Given the description of an element on the screen output the (x, y) to click on. 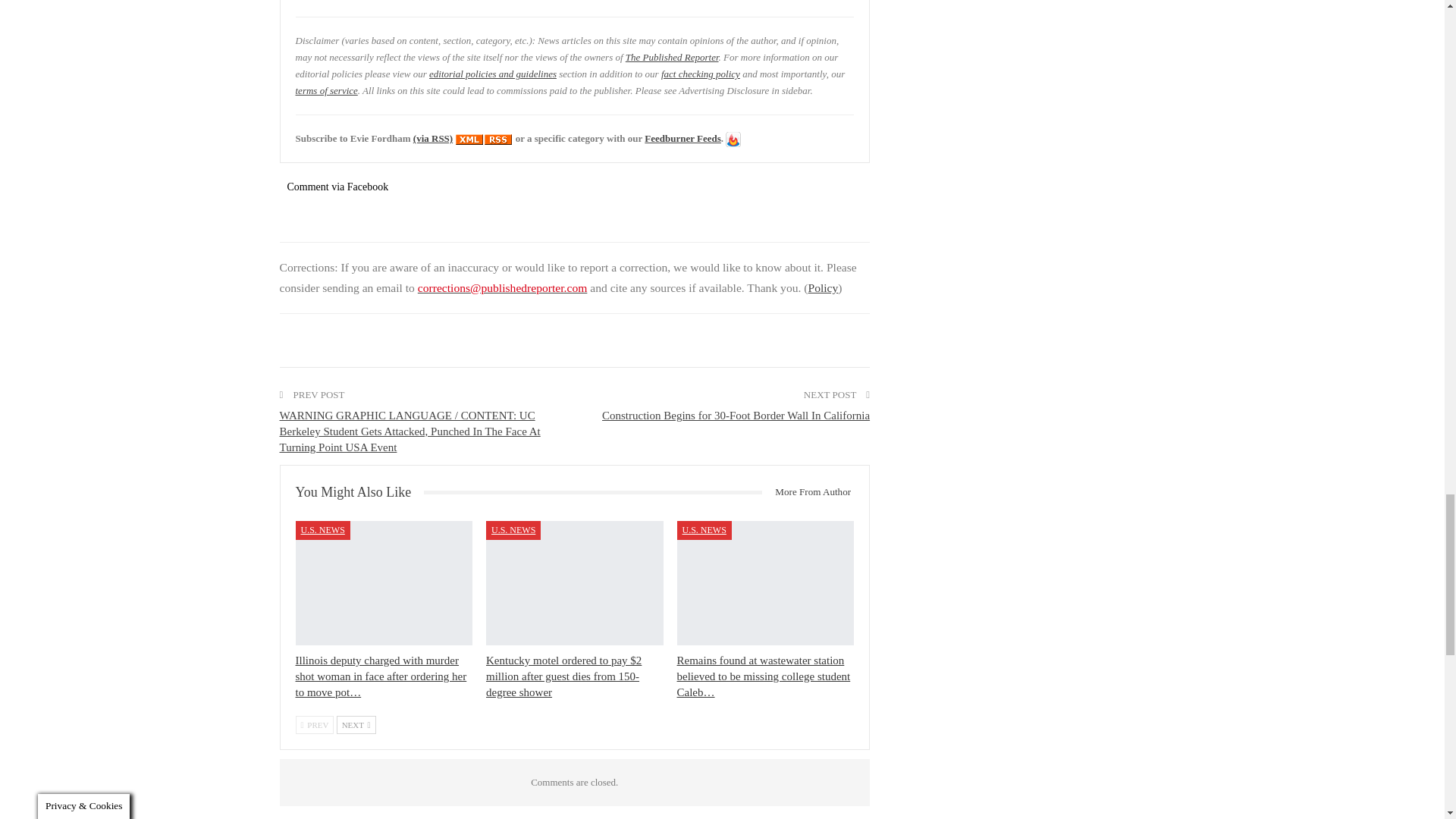
Previous (314, 724)
Next (355, 724)
